Given the description of an element on the screen output the (x, y) to click on. 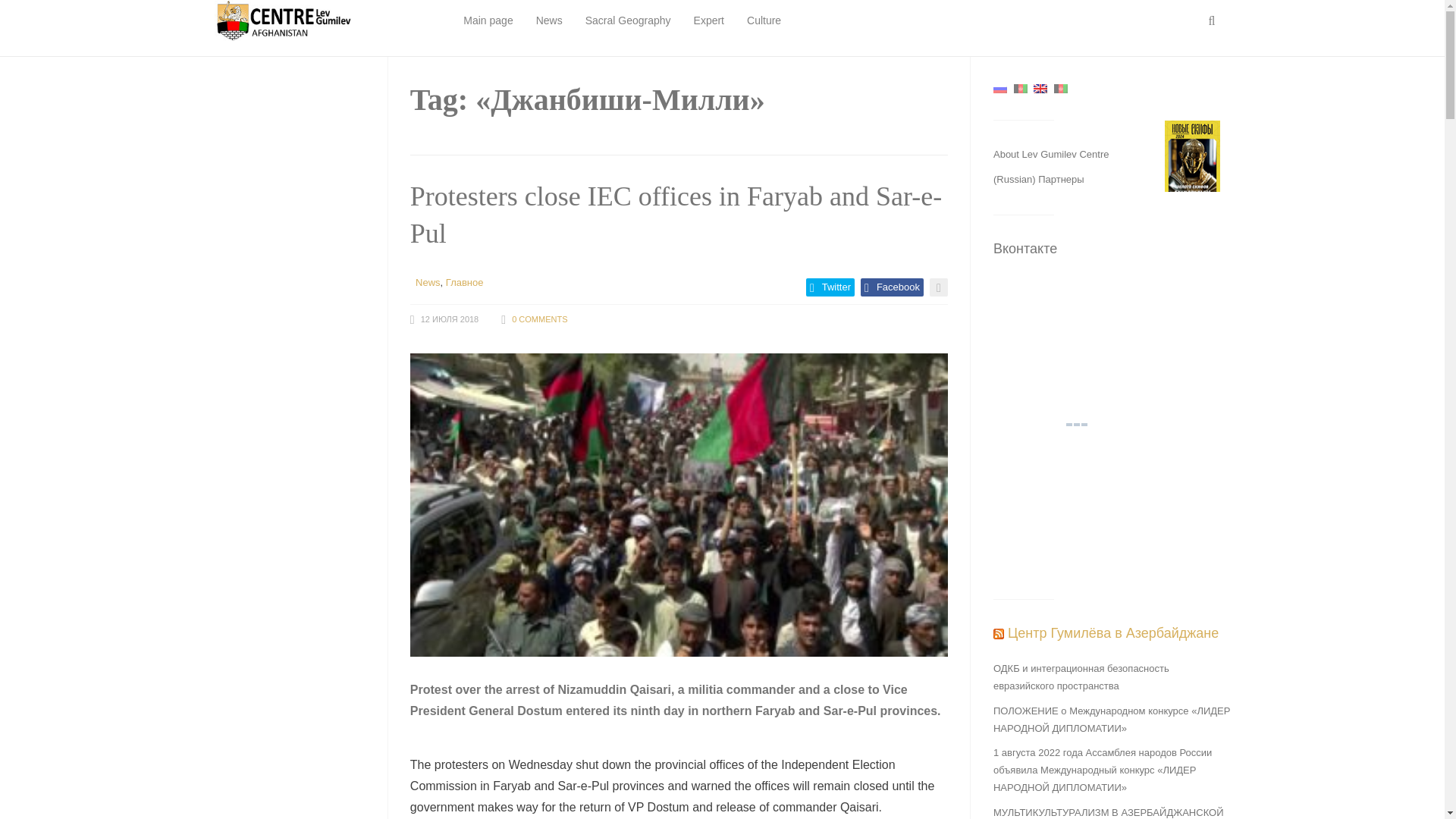
0 COMMENTS (539, 318)
Sacral Geography (628, 20)
Twitter (830, 287)
Sacral Geography (628, 20)
Main page (487, 20)
Main page (487, 20)
News (427, 282)
About Lev Gumilev Centre (1050, 153)
View all posts in News (427, 282)
Facebook (891, 287)
